Given the description of an element on the screen output the (x, y) to click on. 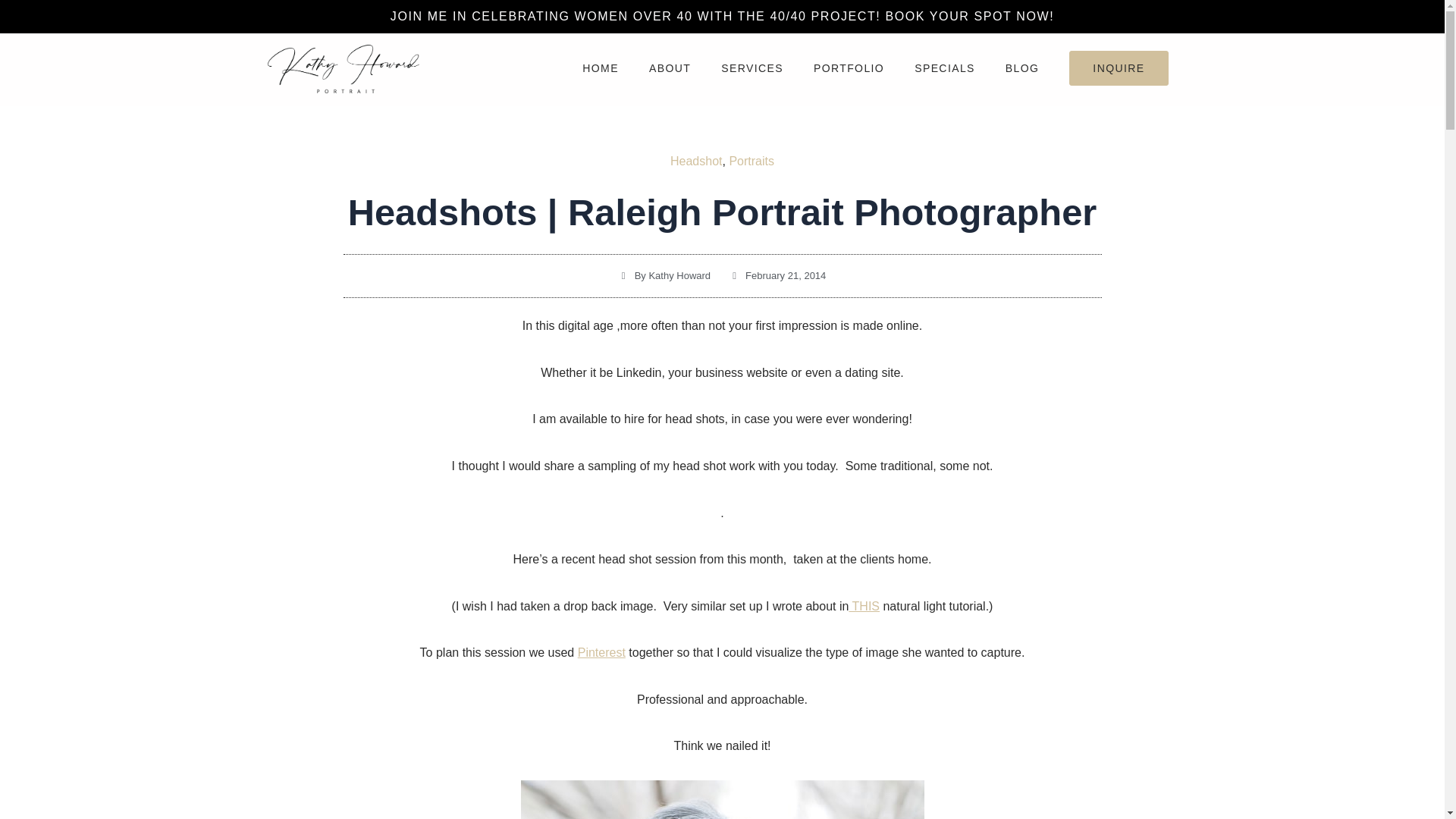
PORTFOLIO (848, 67)
HOME (600, 67)
SERVICES (751, 67)
ABOUT (669, 67)
BLOG (1022, 67)
SPECIALS (944, 67)
